Given the description of an element on the screen output the (x, y) to click on. 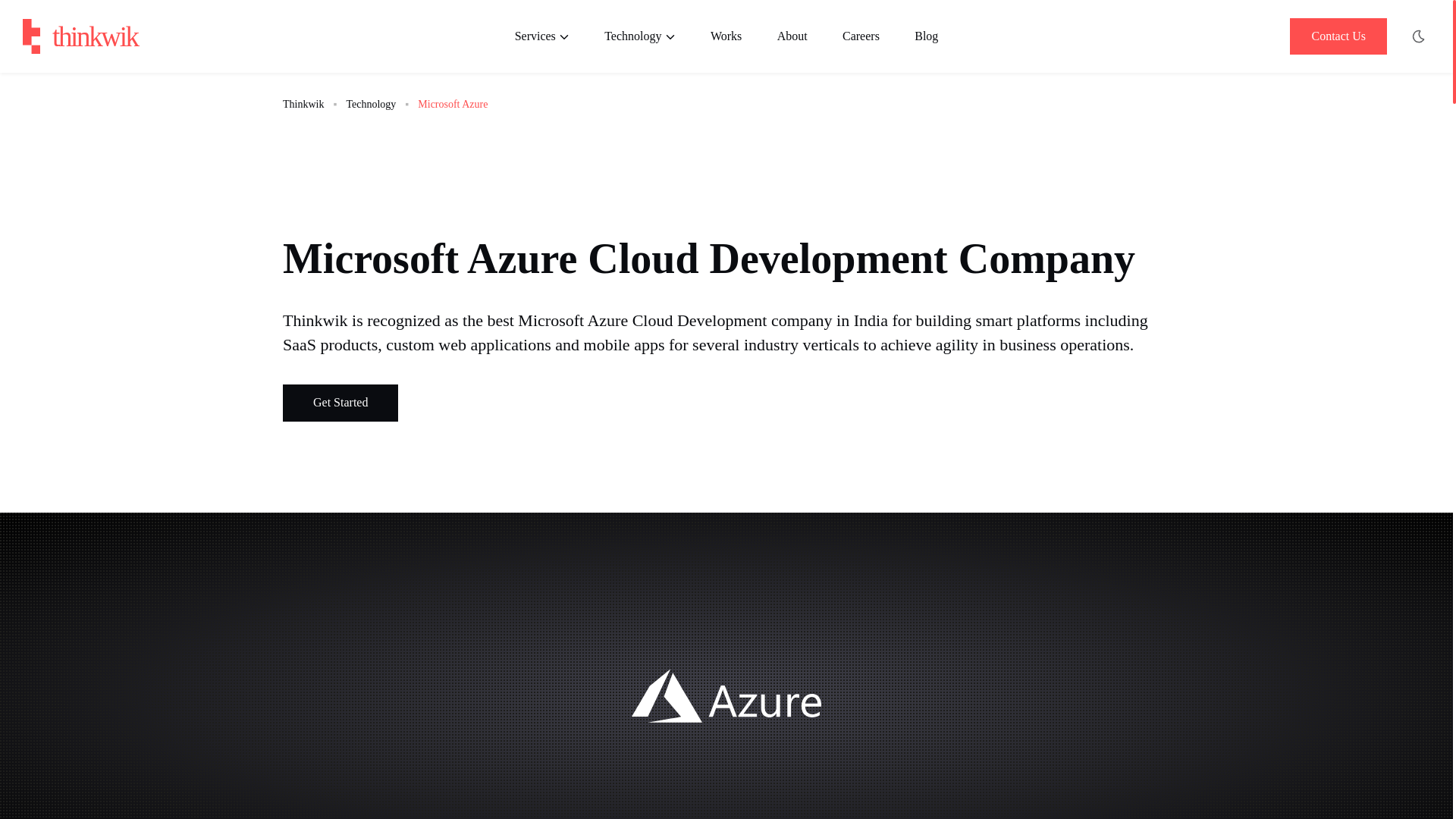
Thinkwik (339, 402)
Works (726, 36)
Contact Us (1338, 36)
Thinkwik (80, 36)
Thinkwik (302, 103)
Technology (371, 103)
thinkwik (80, 36)
Technology (639, 36)
Services (550, 36)
